Given the description of an element on the screen output the (x, y) to click on. 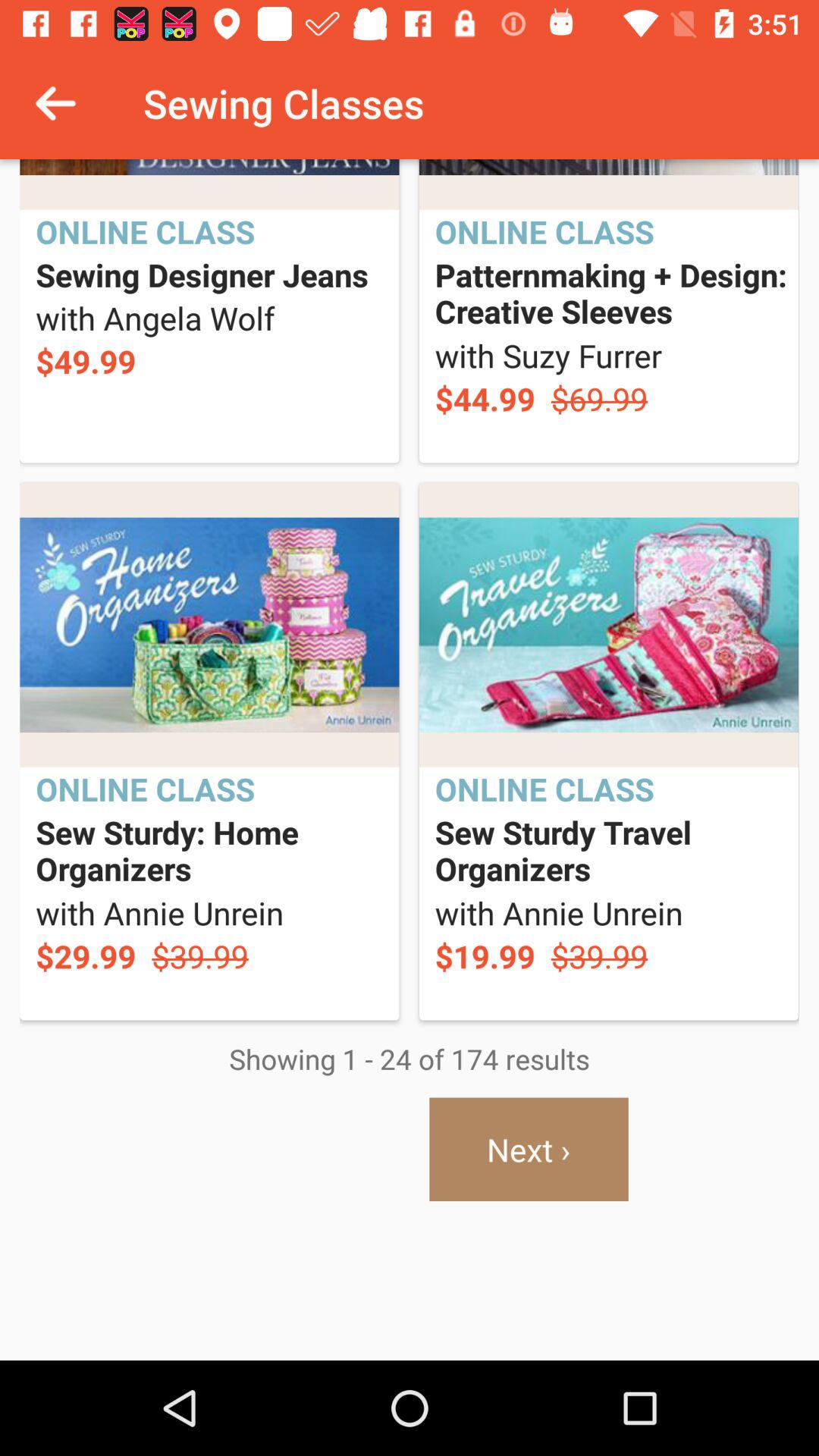
tap icon next to sewing classes icon (55, 103)
